Given the description of an element on the screen output the (x, y) to click on. 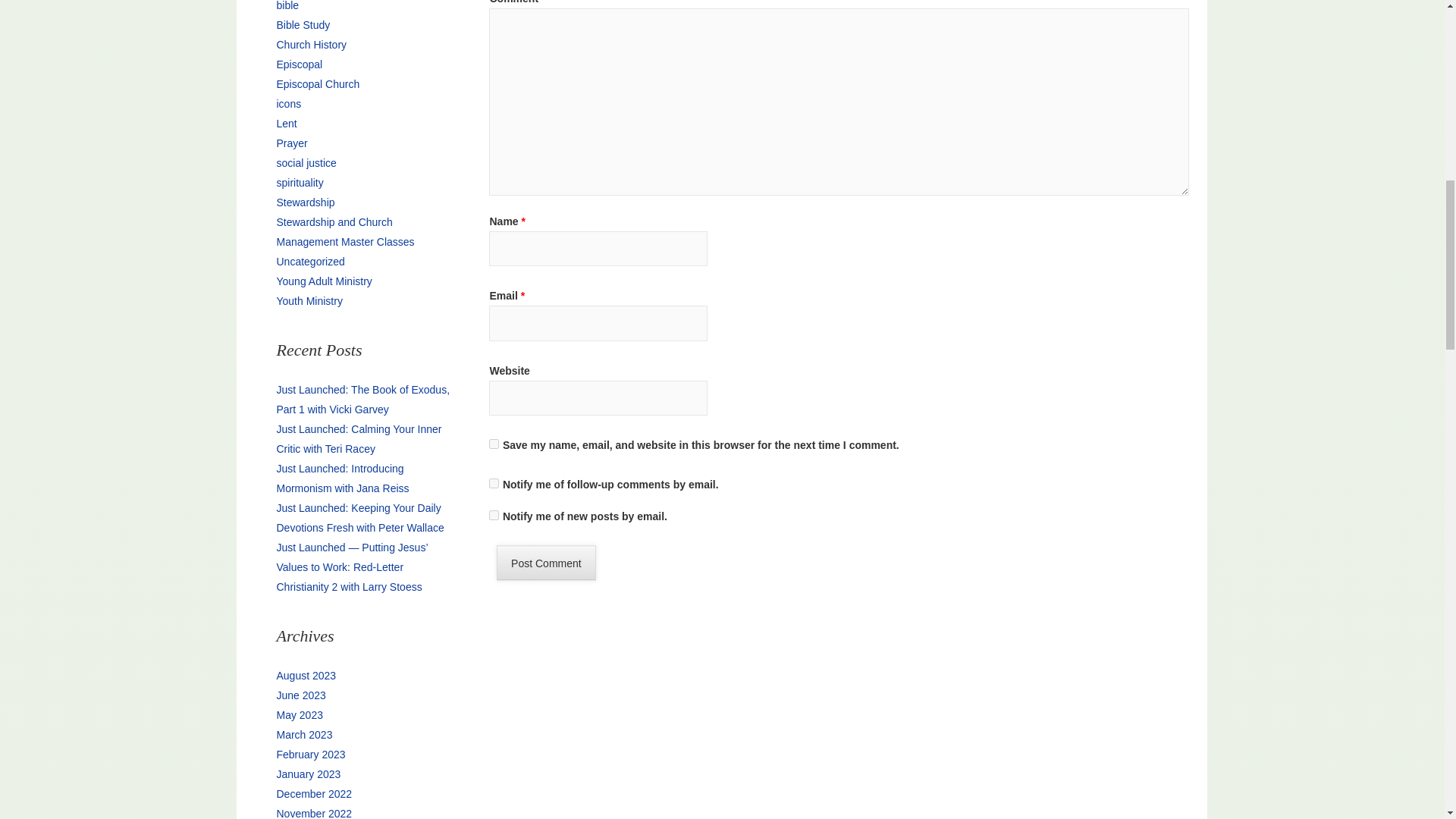
Church History (311, 44)
bible (287, 5)
Episcopal Church (317, 83)
Bible Study (303, 24)
Episcopal (298, 64)
Lent (286, 123)
icons (288, 103)
Post Comment (545, 562)
yes (494, 443)
Post Comment (545, 562)
subscribe (494, 483)
Prayer (291, 143)
subscribe (494, 515)
